Given the description of an element on the screen output the (x, y) to click on. 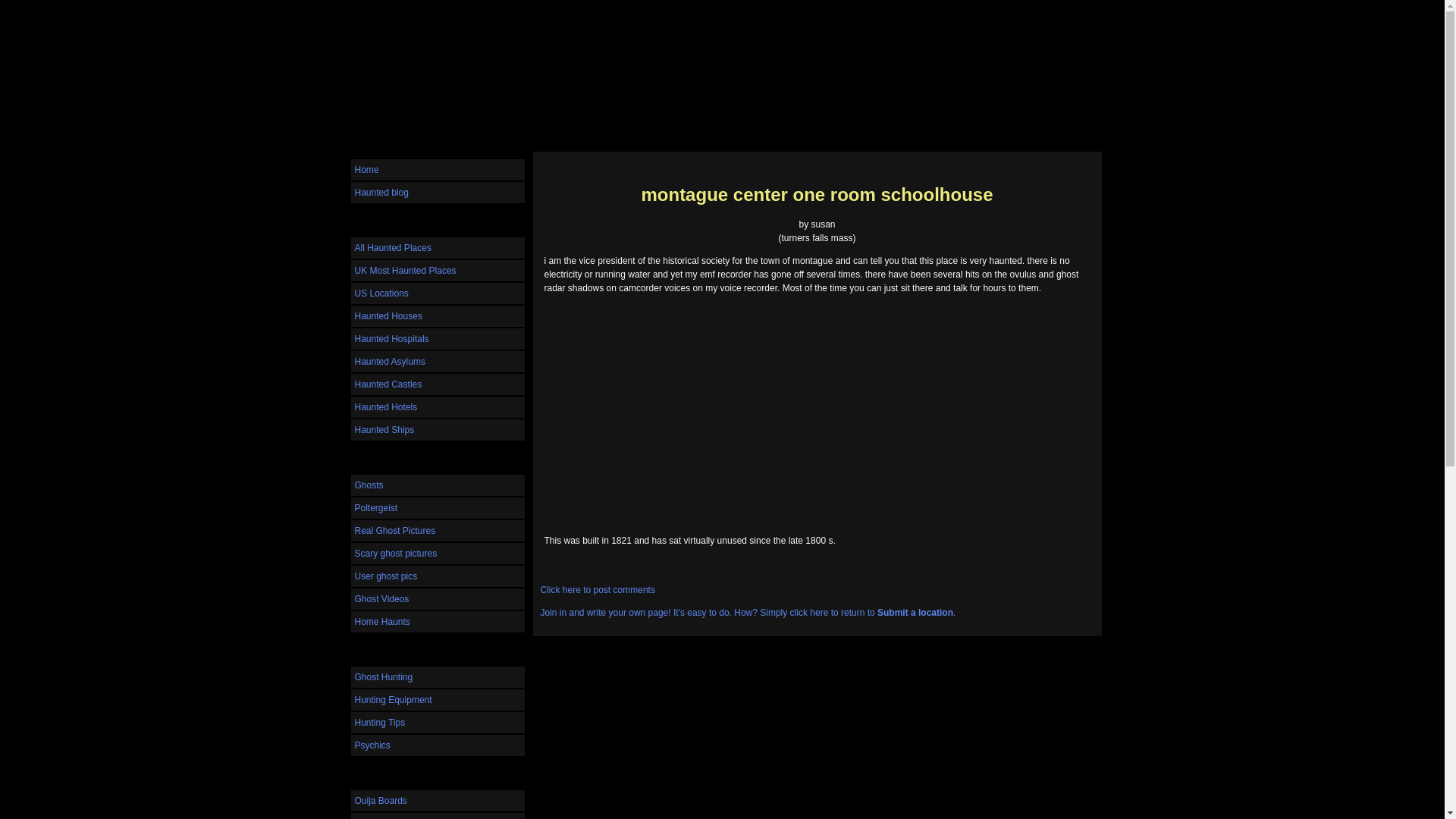
Haunted Houses (437, 315)
Haunted Ships (437, 429)
Ghost Hunting (437, 676)
Haunted blog (437, 192)
Hunting Equipment (437, 699)
All Haunted Places (437, 247)
Ghosts (437, 485)
Advertisement (817, 423)
User ghost pics (437, 576)
Ouija Boards (437, 800)
